Given the description of an element on the screen output the (x, y) to click on. 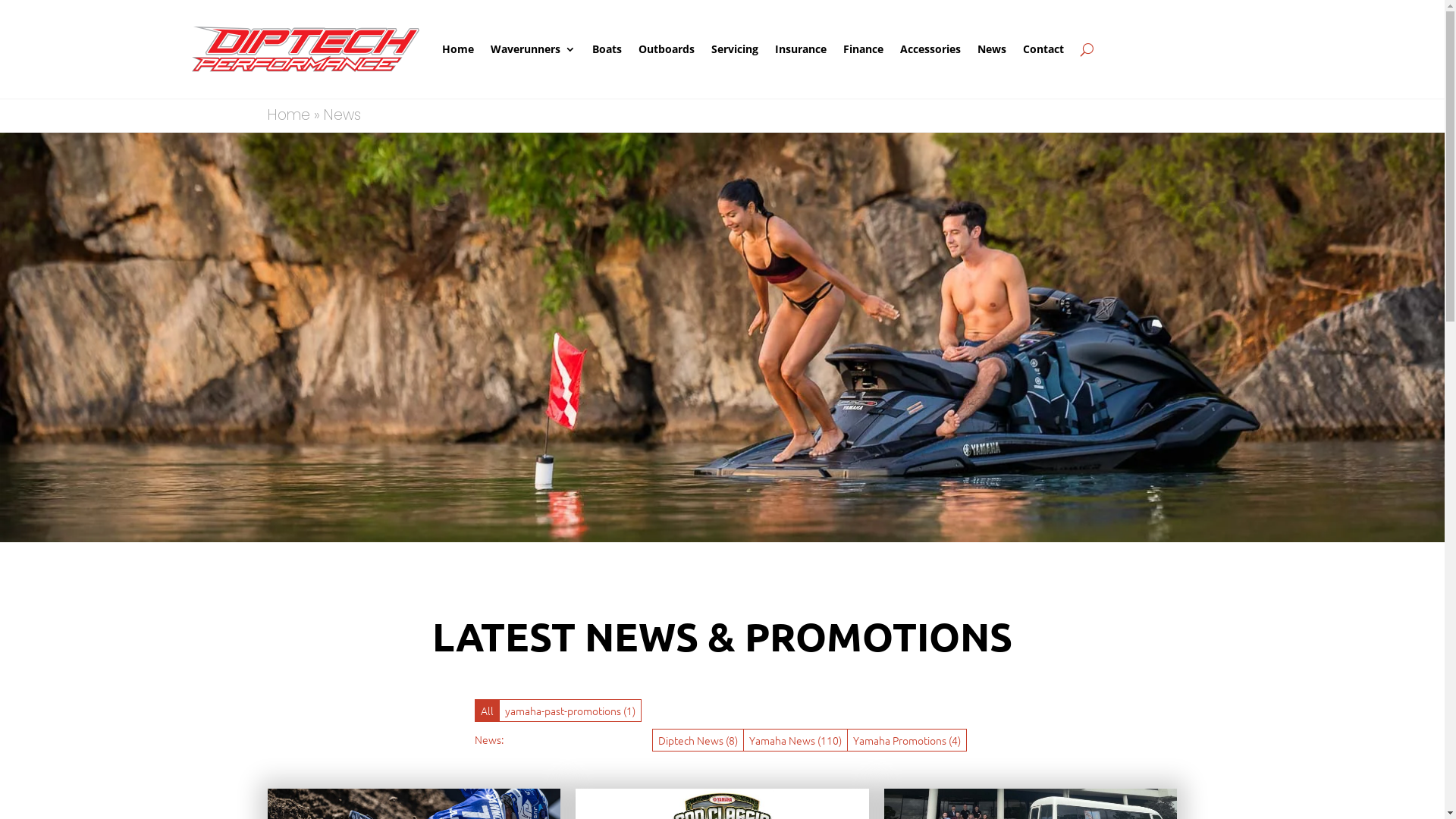
Home Element type: text (287, 114)
All Element type: text (486, 710)
Yamaha Promotions (4) Element type: text (906, 739)
Home Element type: text (457, 49)
Boats Element type: text (606, 49)
Accessories Element type: text (929, 49)
yamaha-past-promotions (1) Element type: text (569, 710)
Waverunners Element type: text (531, 49)
Contact Element type: text (1042, 49)
News Element type: text (990, 49)
Servicing Element type: text (734, 49)
Finance Element type: text (863, 49)
Outboards Element type: text (666, 49)
Diptech News (8) Element type: text (697, 739)
Yamaha News (110) Element type: text (795, 739)
Insurance Element type: text (800, 49)
